Given the description of an element on the screen output the (x, y) to click on. 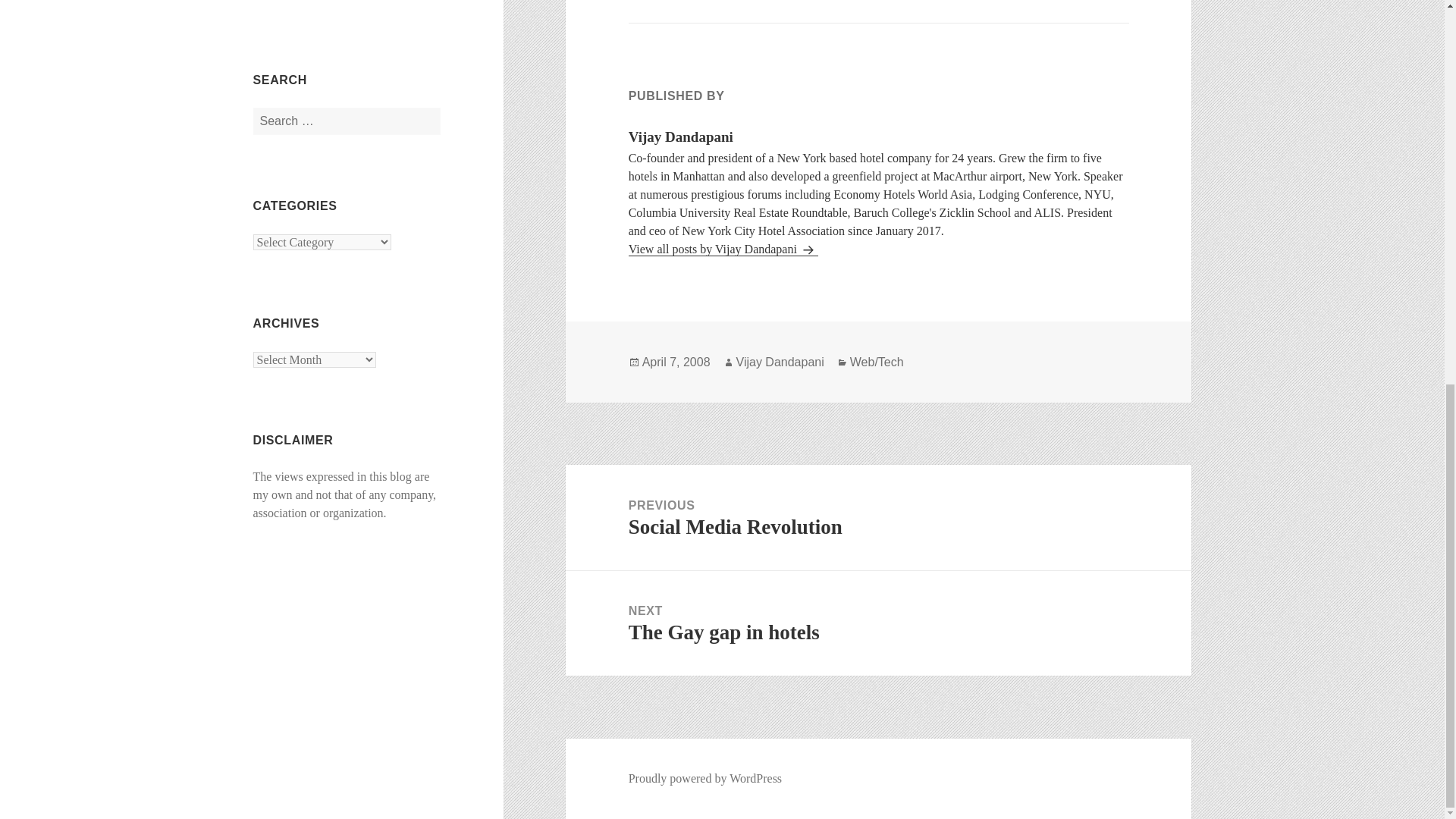
View all posts by Vijay Dandapani (878, 517)
Search (878, 623)
April 7, 2008 (723, 249)
Search (676, 362)
Vijay Dandapani (336, 2)
